Given the description of an element on the screen output the (x, y) to click on. 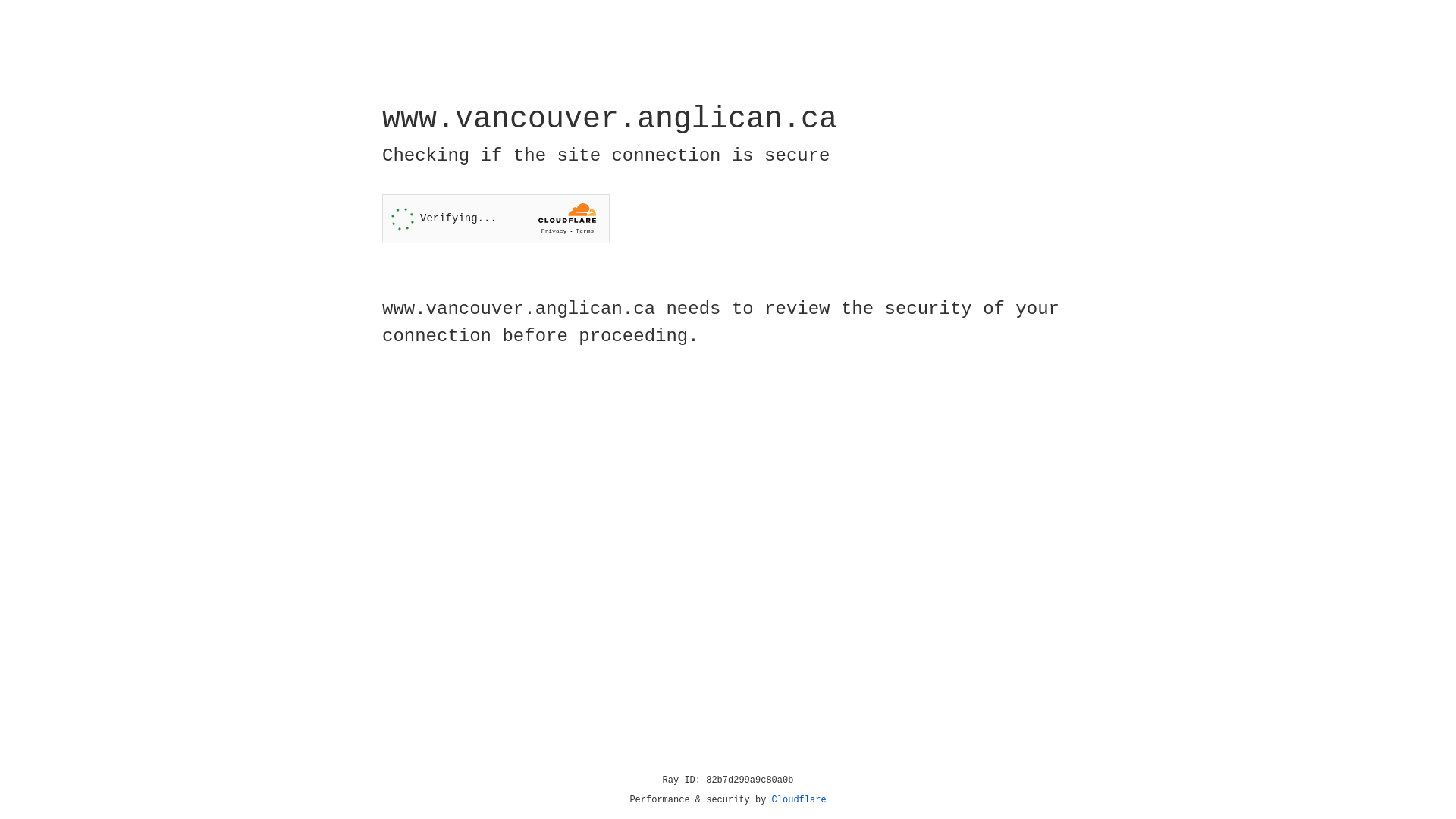
Widget containing a Cloudflare security challenge Element type: hover (495, 218)
Cloudflare Element type: text (798, 799)
